Given the description of an element on the screen output the (x, y) to click on. 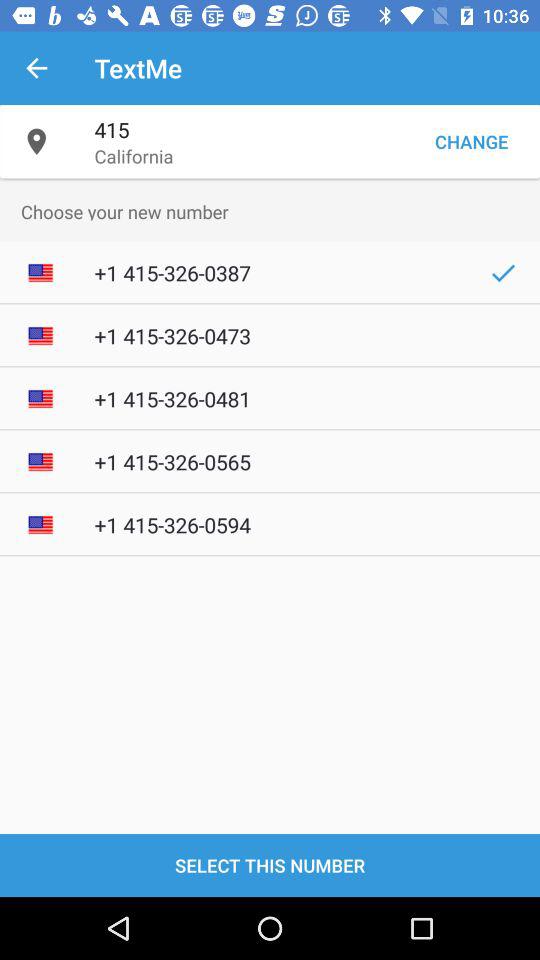
scroll until select this number icon (270, 864)
